Given the description of an element on the screen output the (x, y) to click on. 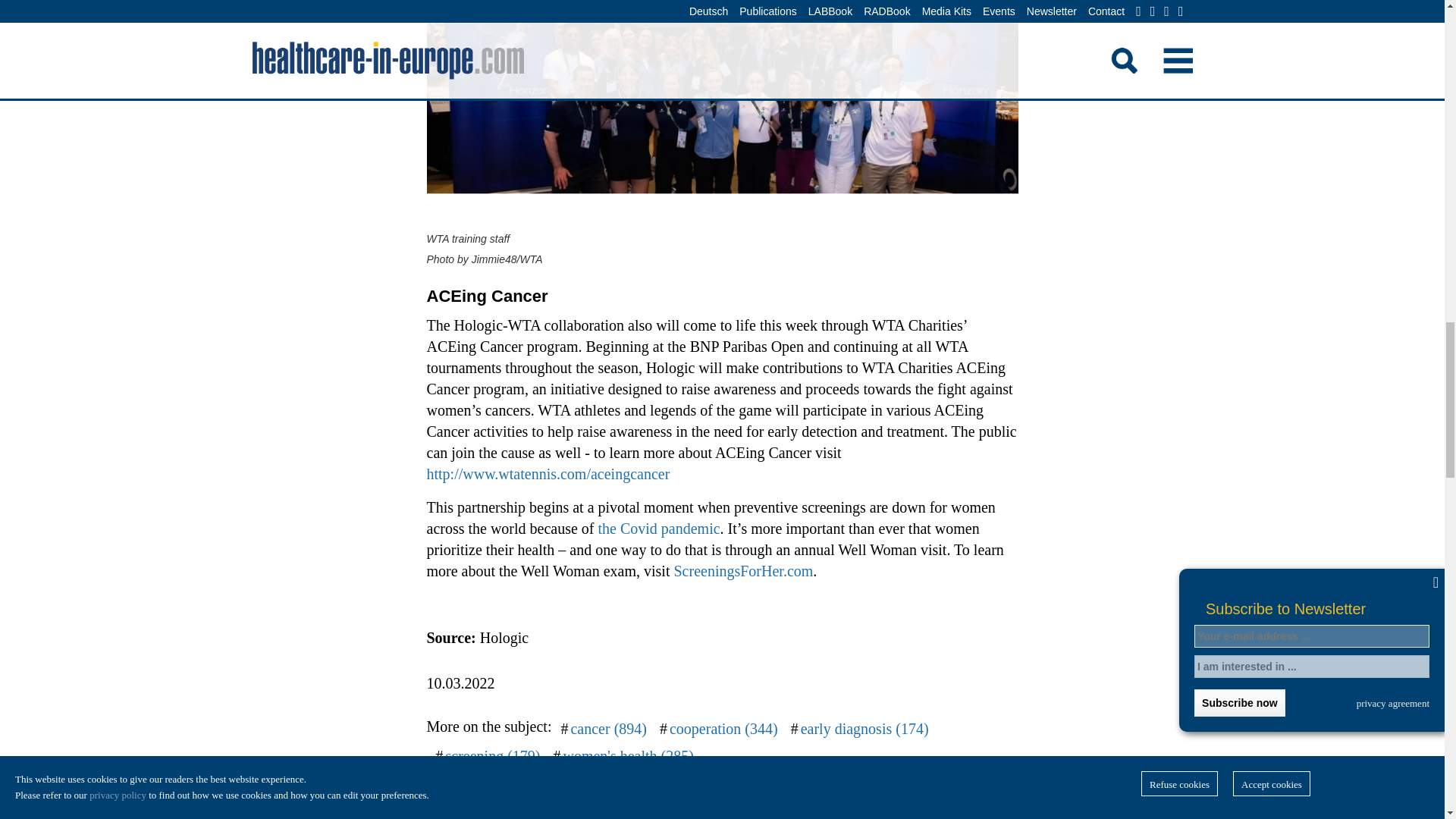
ScreeningsForHer.com (742, 570)
Read all latest stories (875, 816)
the Covid pandemic (659, 528)
Hologic, Inc. (609, 782)
